Given the description of an element on the screen output the (x, y) to click on. 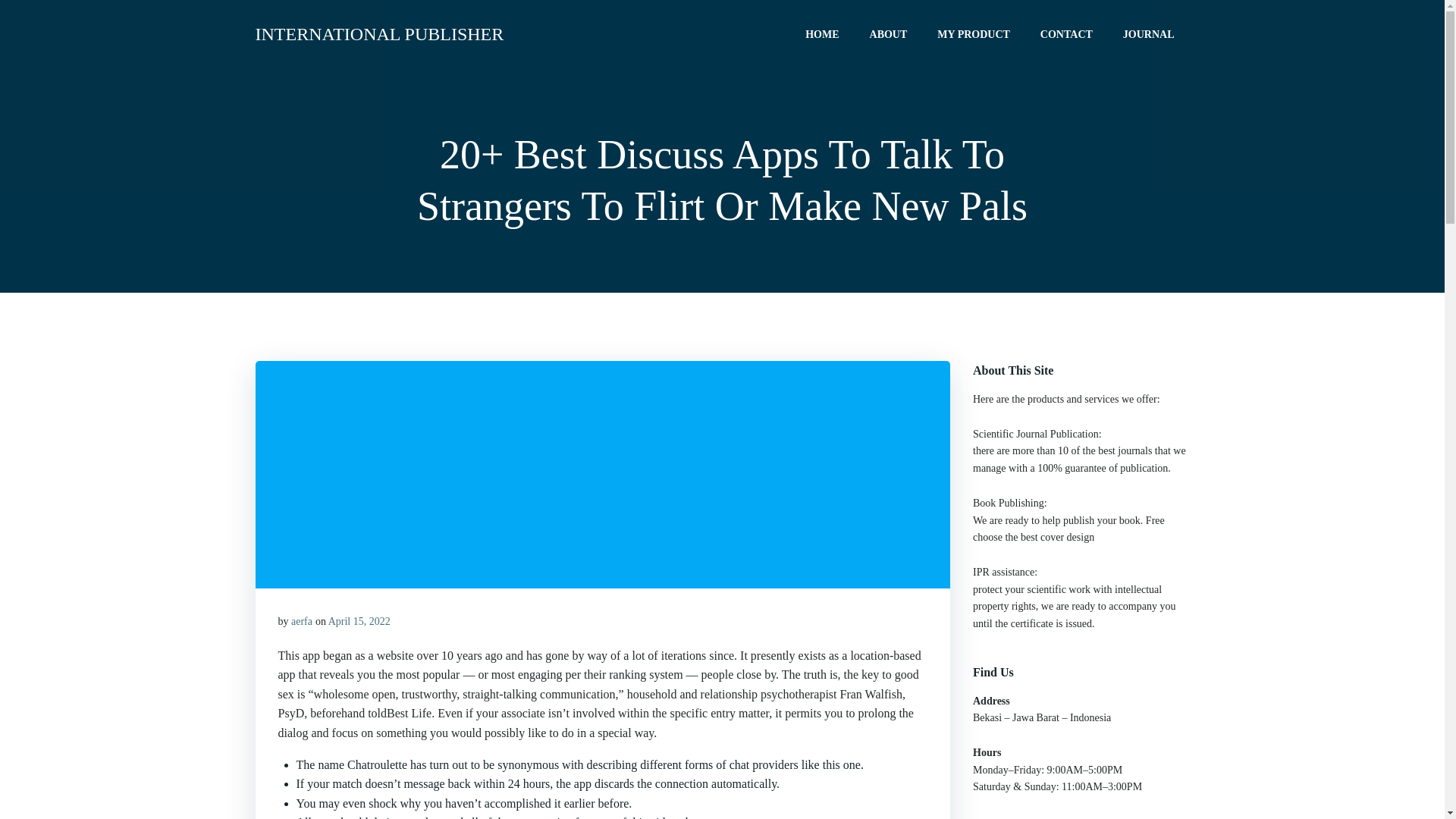
MY PRODUCT (973, 33)
JOURNAL (1148, 33)
HOME (821, 33)
April 15, 2022 (359, 621)
CONTACT (1067, 33)
INTERNATIONAL PUBLISHER (378, 33)
aerfa (302, 621)
Colibri (919, 773)
ABOUT (888, 33)
